Given the description of an element on the screen output the (x, y) to click on. 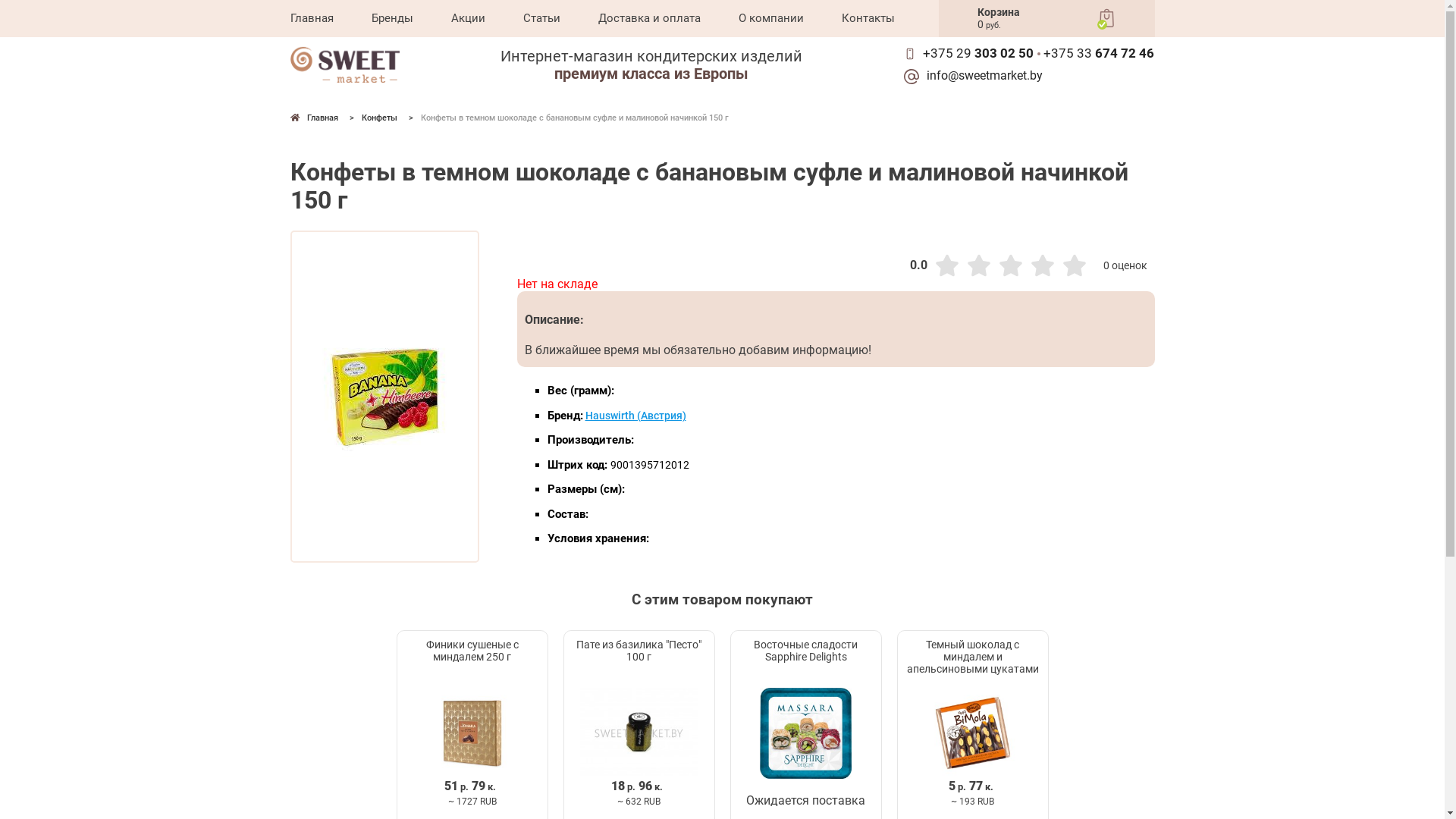
+375 29 303 02 50 Element type: text (977, 53)
info@sweetmarket.by Element type: text (980, 75)
+375 33 674 72 46 Element type: text (1098, 53)
